Given the description of an element on the screen output the (x, y) to click on. 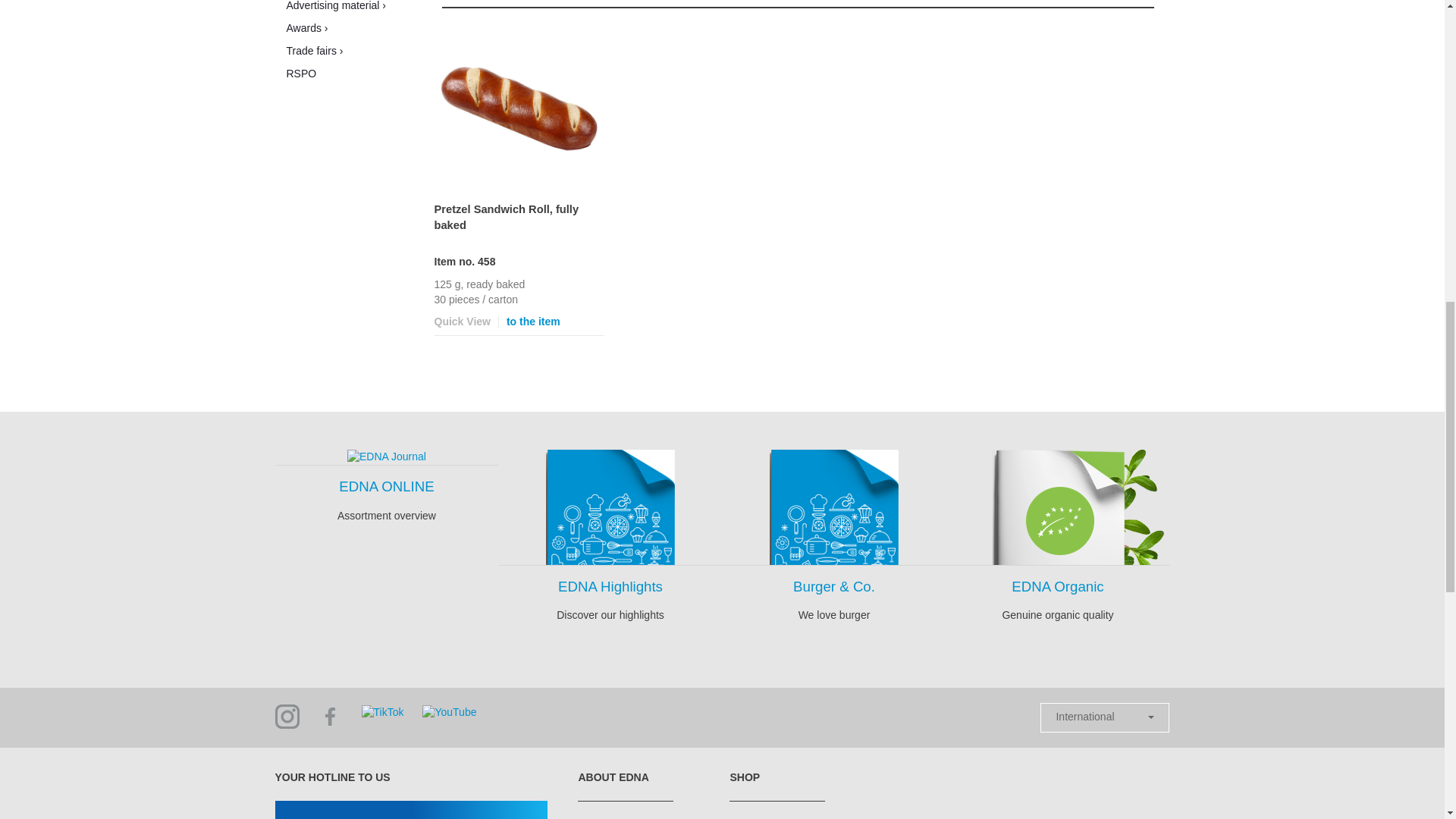
Pretzel Sandwich Roll, fully baked  (529, 321)
TikTok (382, 711)
EDNA Organic (1058, 549)
EDNA ONLINE (386, 499)
Facebook (330, 715)
Instagram (286, 715)
YouTube (449, 711)
EDNA Highlights (610, 549)
Pretzel Sandwich Roll, fully baked  (518, 227)
